Given the description of an element on the screen output the (x, y) to click on. 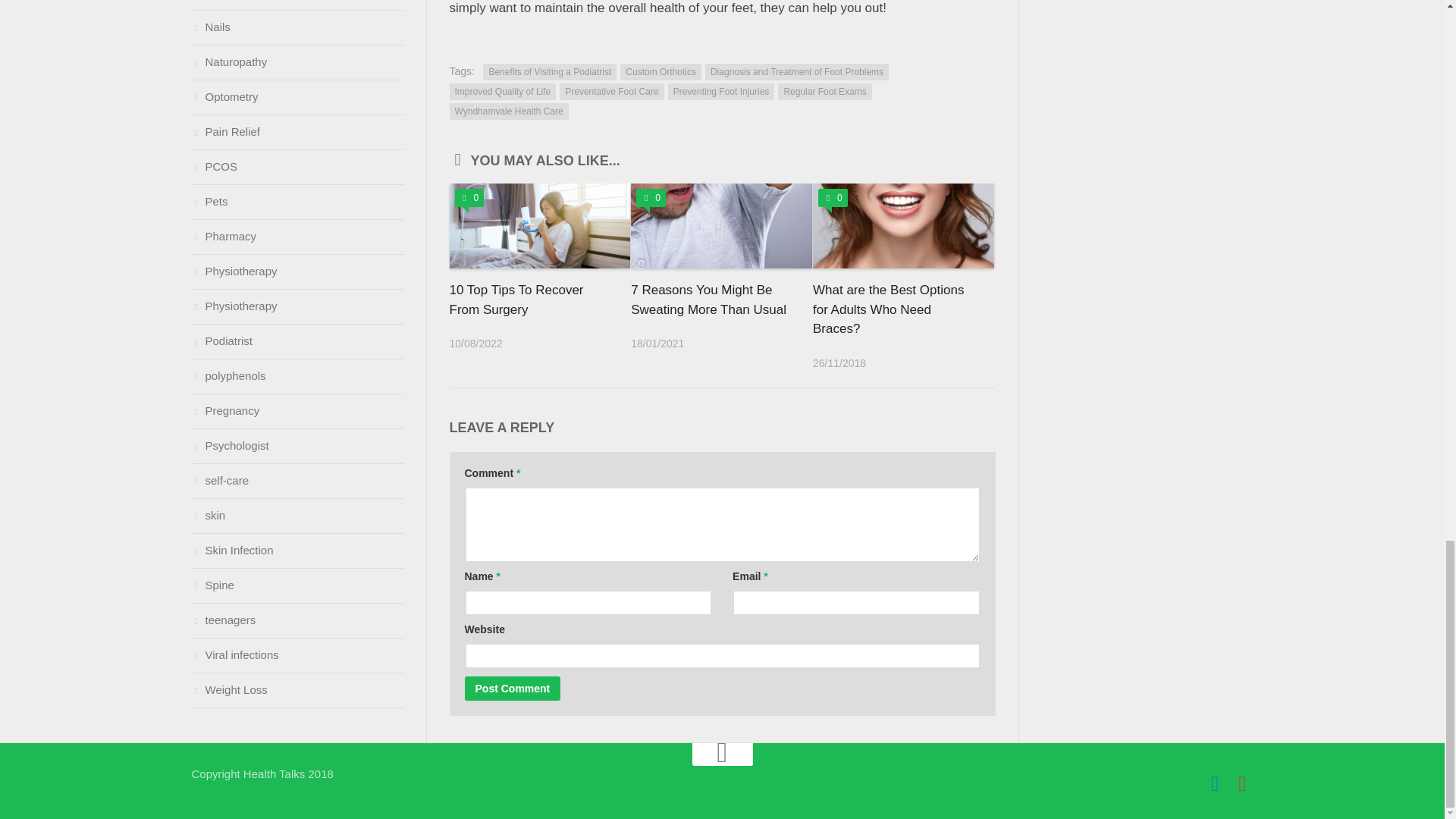
Custom Orthotics (660, 71)
0 (650, 198)
Post Comment (512, 688)
Wyndhamvale Health Care (507, 111)
Regular Foot Exams (823, 91)
Improved Quality of Life (502, 91)
Facebook (1214, 783)
7 Reasons You Might Be Sweating More Than Usual (708, 299)
Preventing Foot Injuries (721, 91)
What are the Best Options for Adults Who Need Braces? (887, 308)
